Given the description of an element on the screen output the (x, y) to click on. 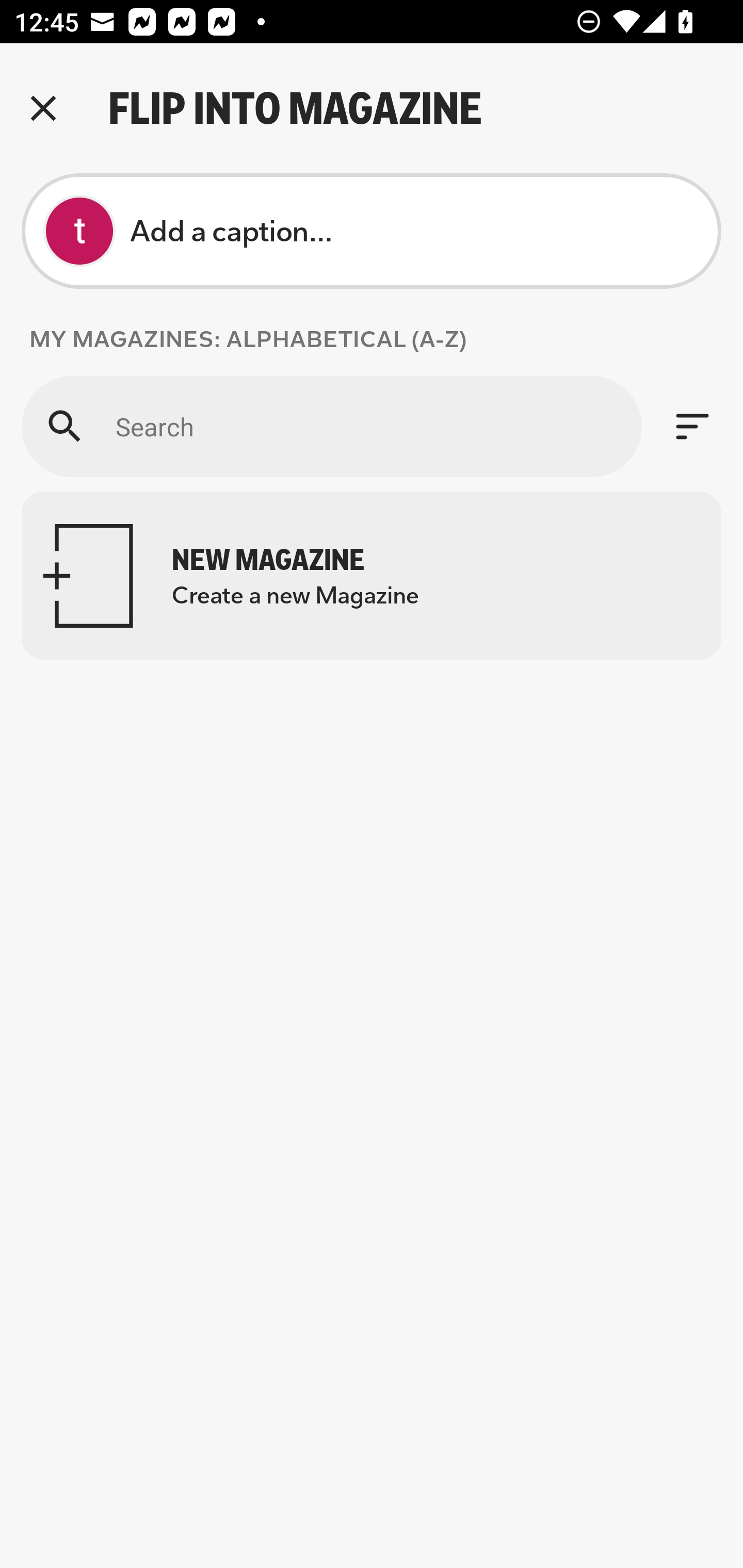
test appium Add a caption… (371, 231)
Search (331, 426)
NEW MAGAZINE Create a new Magazine (371, 575)
